Given the description of an element on the screen output the (x, y) to click on. 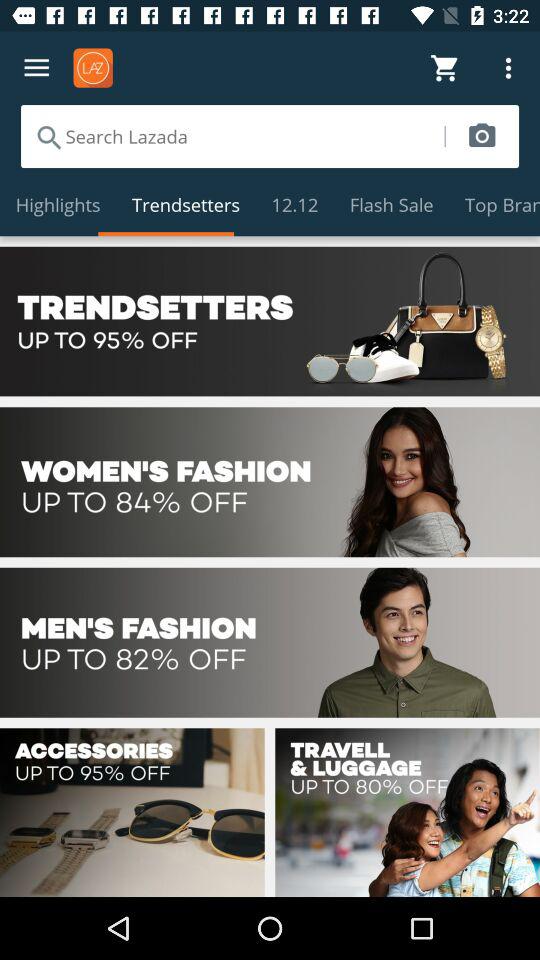
search image (482, 136)
